Given the description of an element on the screen output the (x, y) to click on. 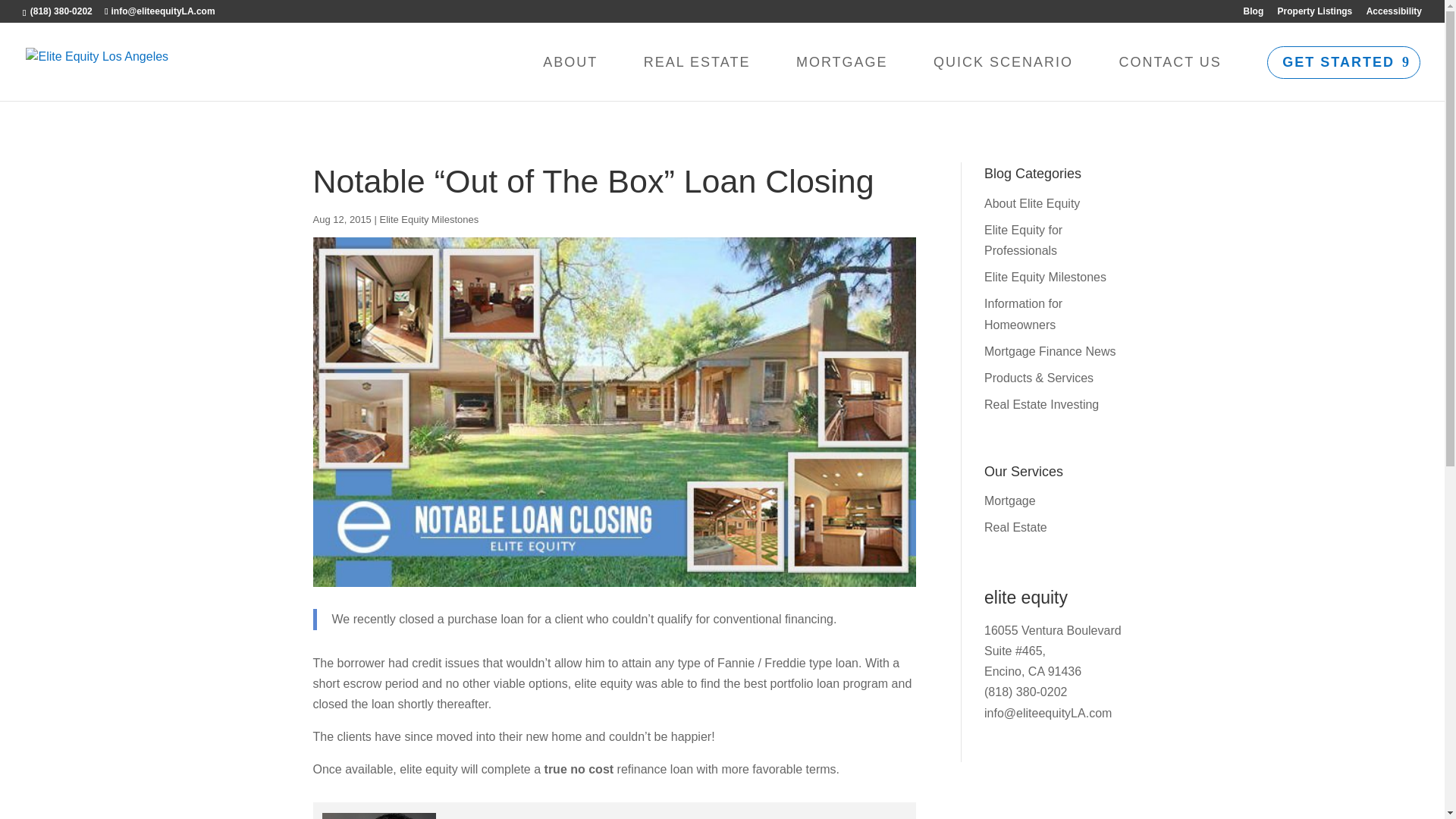
Real Estate Investing (1041, 404)
QUICK SCENARIO (1003, 61)
Mortgage (1009, 500)
Tomer Firouzman (511, 817)
Accessibility (1394, 14)
Mortgage Finance News (1049, 350)
Real Estate (1015, 526)
GET STARTED (1343, 61)
Elite Equity for Professionals (1023, 240)
